Given the description of an element on the screen output the (x, y) to click on. 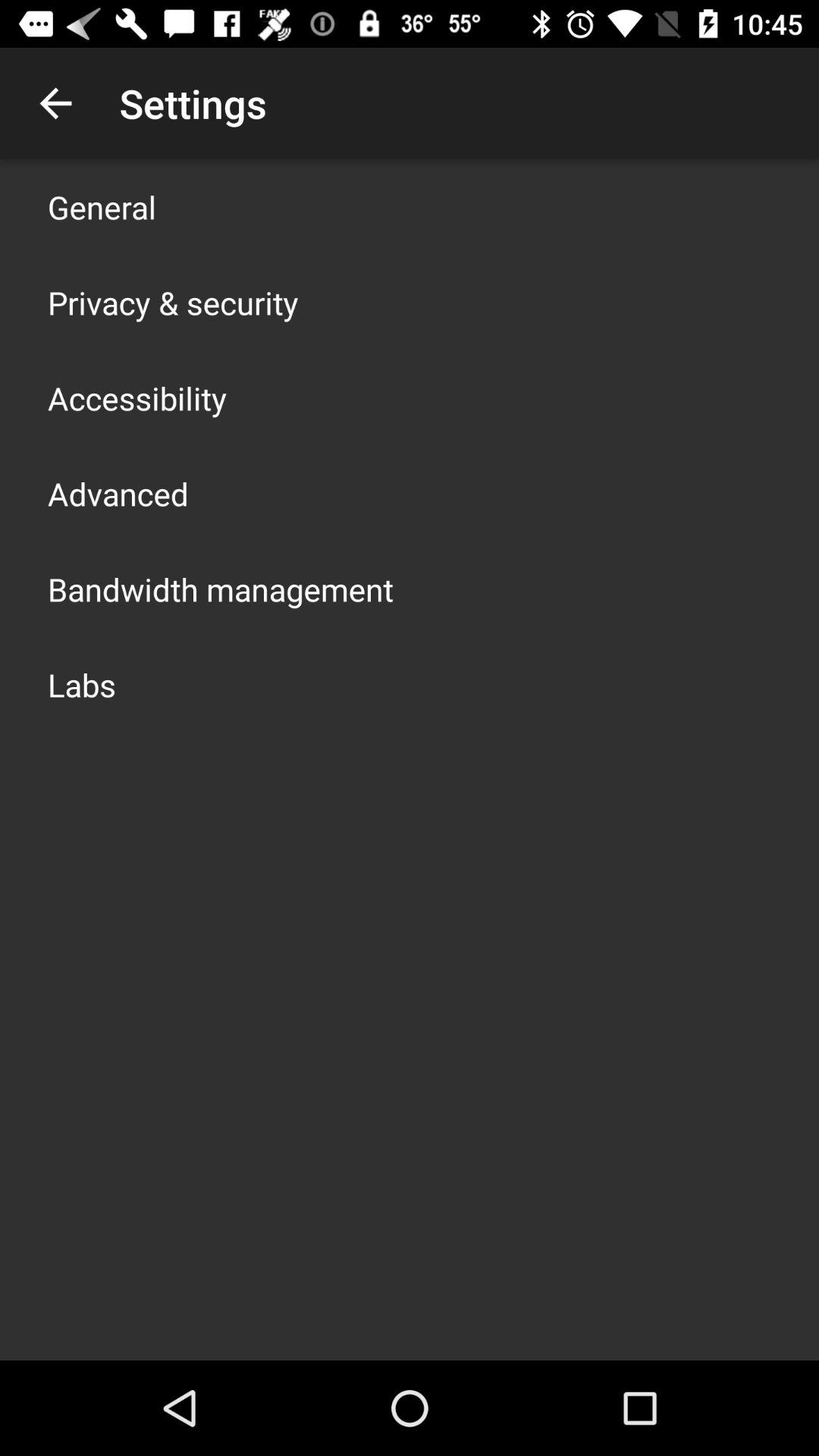
turn off icon next to the settings item (55, 103)
